Given the description of an element on the screen output the (x, y) to click on. 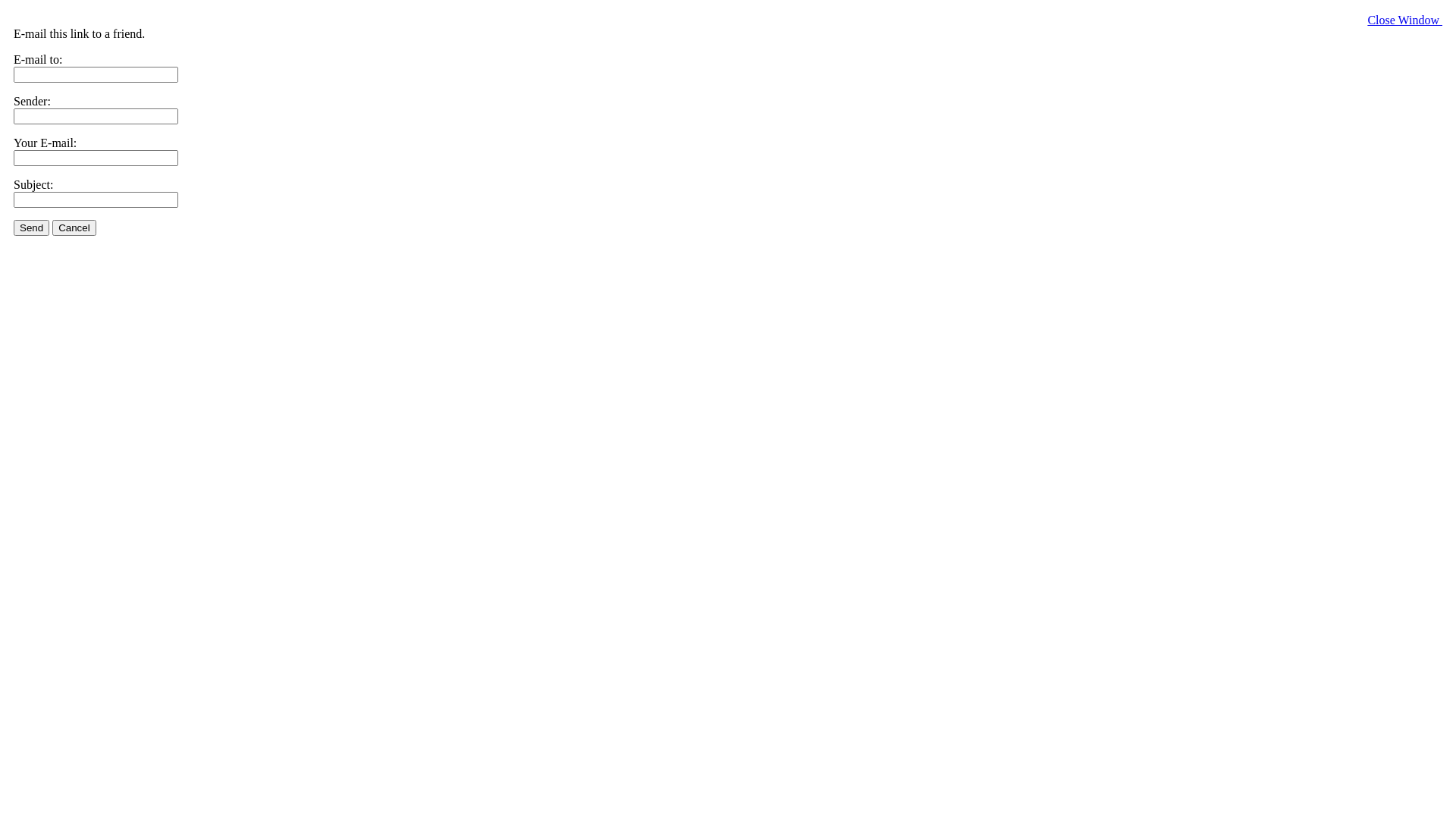
Close Window Element type: text (1404, 19)
Cancel Element type: text (74, 227)
Send Element type: text (31, 227)
